Given the description of an element on the screen output the (x, y) to click on. 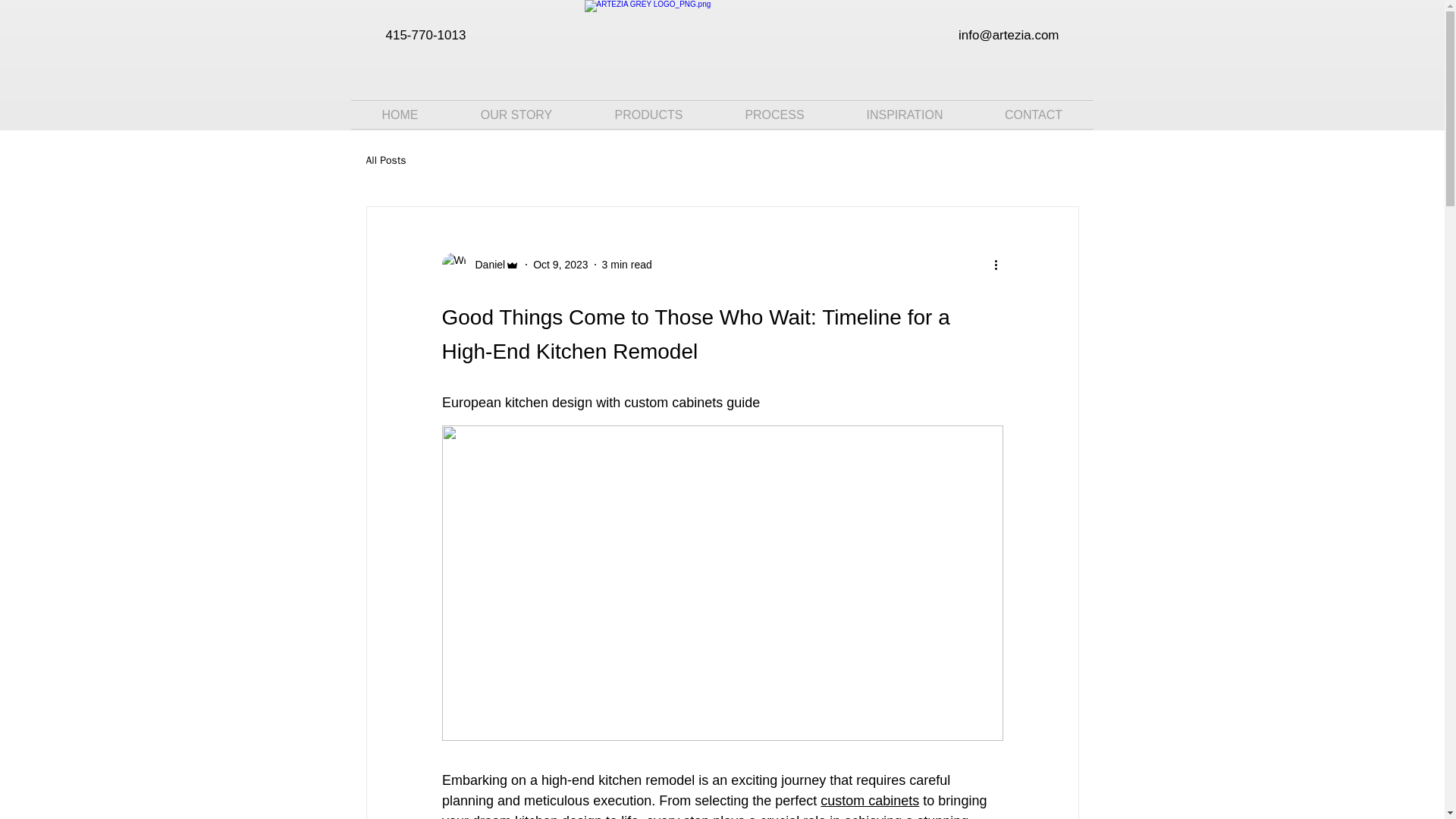
INSPIRATION (904, 114)
CONTACT (1033, 114)
custom cabinets (869, 800)
PRODUCTS (648, 114)
OUR STORY (515, 114)
Daniel (480, 264)
HOME (399, 114)
3 min read (627, 263)
415-770-1013 (425, 34)
Daniel (485, 263)
